Given the description of an element on the screen output the (x, y) to click on. 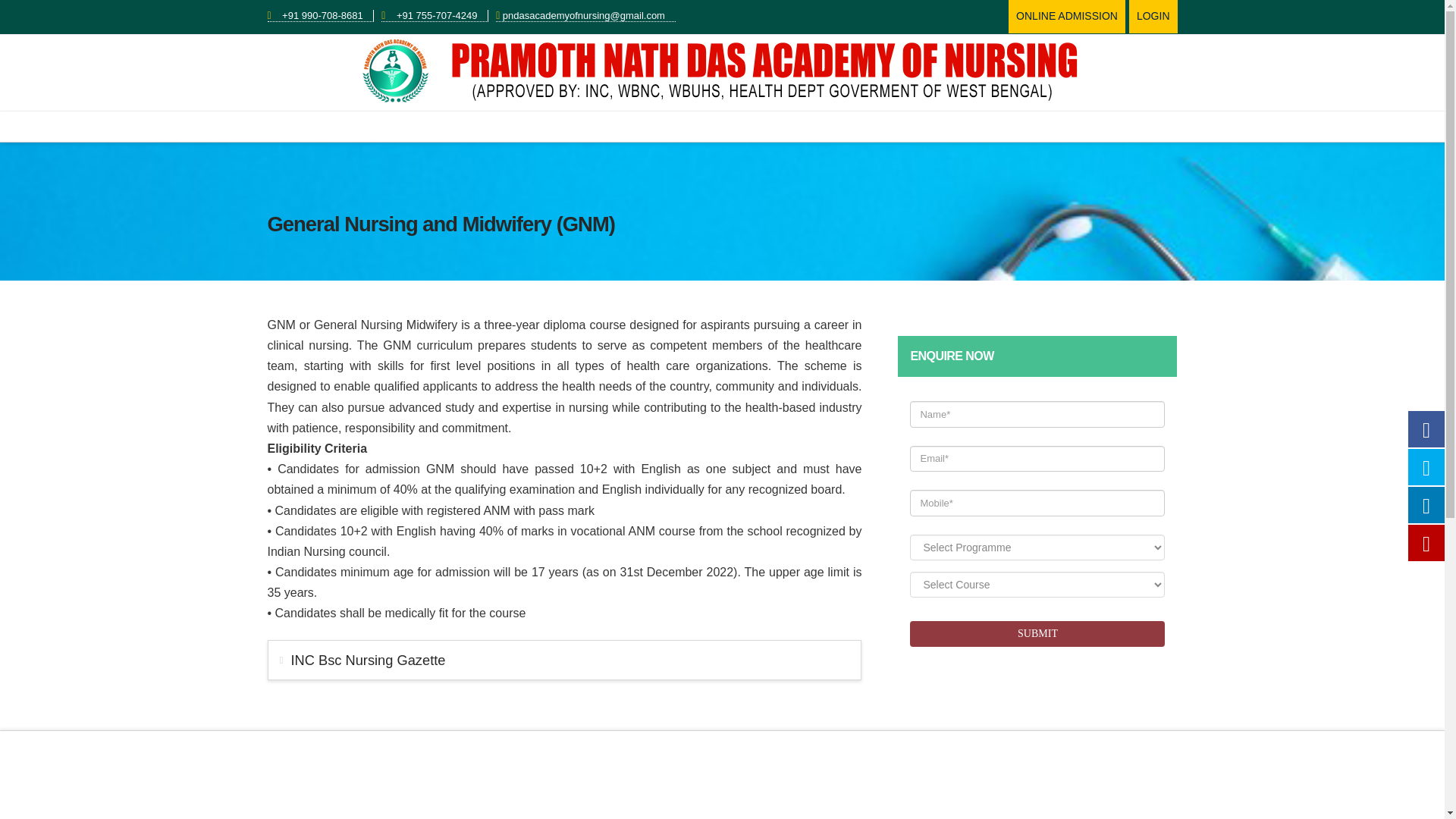
Infrastructure (584, 126)
Courses (510, 126)
Home (354, 126)
Approval (451, 126)
Committee (863, 126)
LOGIN (1153, 15)
Facilities (799, 126)
Academic (662, 126)
About (398, 126)
Admission (733, 126)
